Given the description of an element on the screen output the (x, y) to click on. 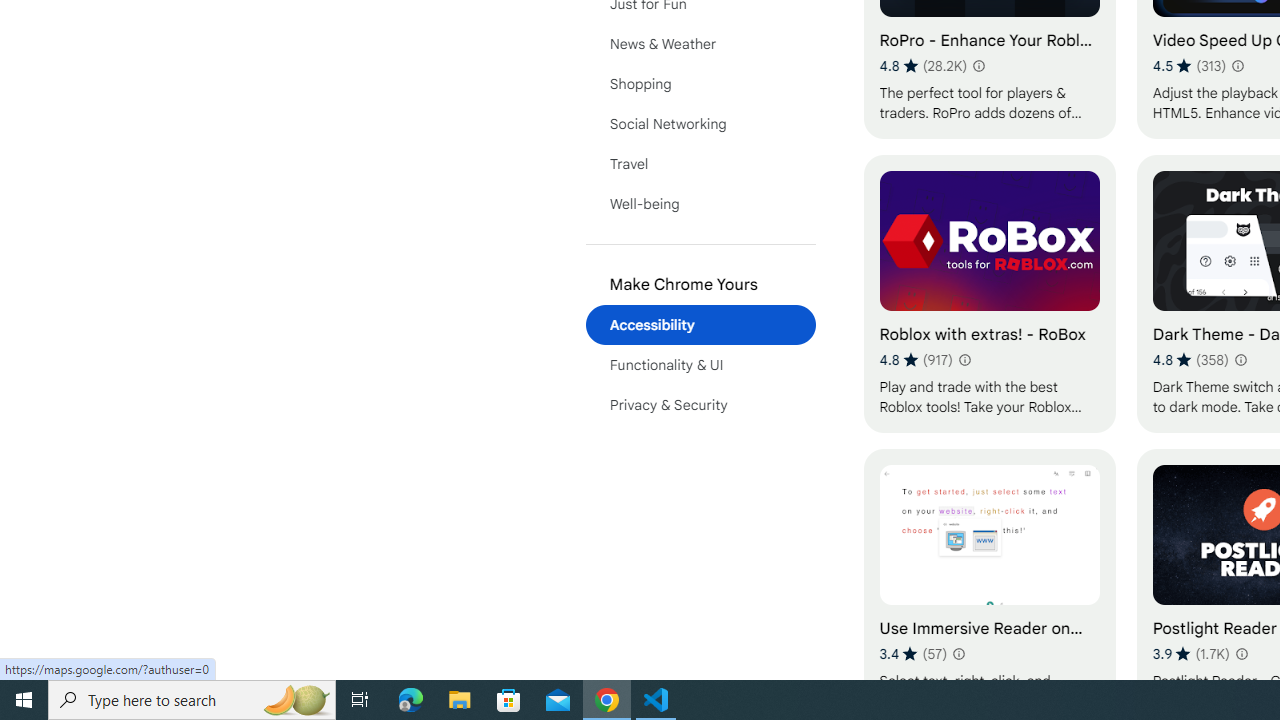
Privacy & Security (700, 404)
News & Weather (700, 43)
Accessibility (selected) (700, 324)
Shopping (700, 83)
